Given the description of an element on the screen output the (x, y) to click on. 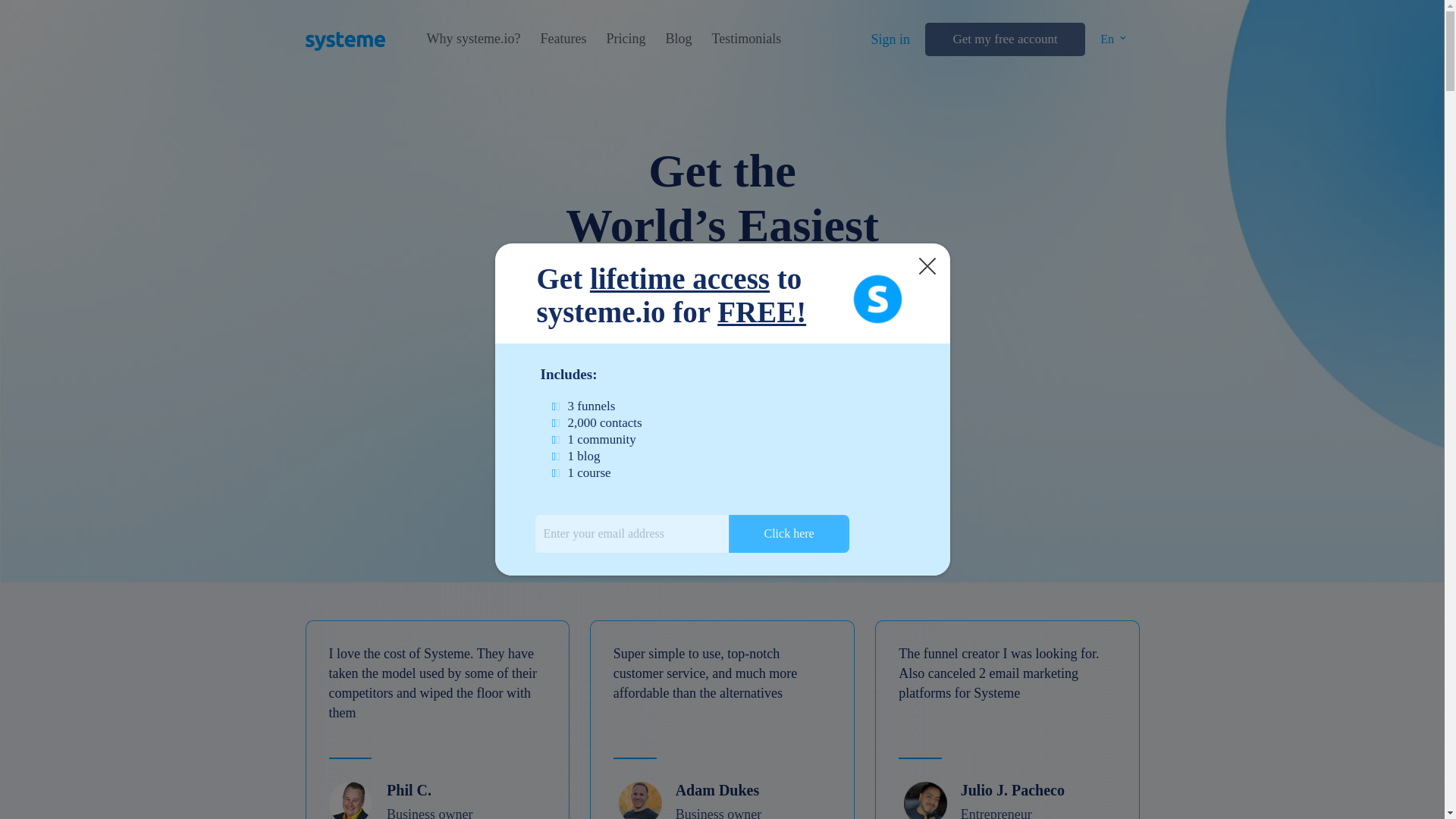
Blog (678, 38)
Features (563, 38)
Pricing (625, 38)
Sign in (890, 39)
Why systeme.io? (472, 38)
Get my free account (1004, 39)
Testimonials (745, 38)
